Given the description of an element on the screen output the (x, y) to click on. 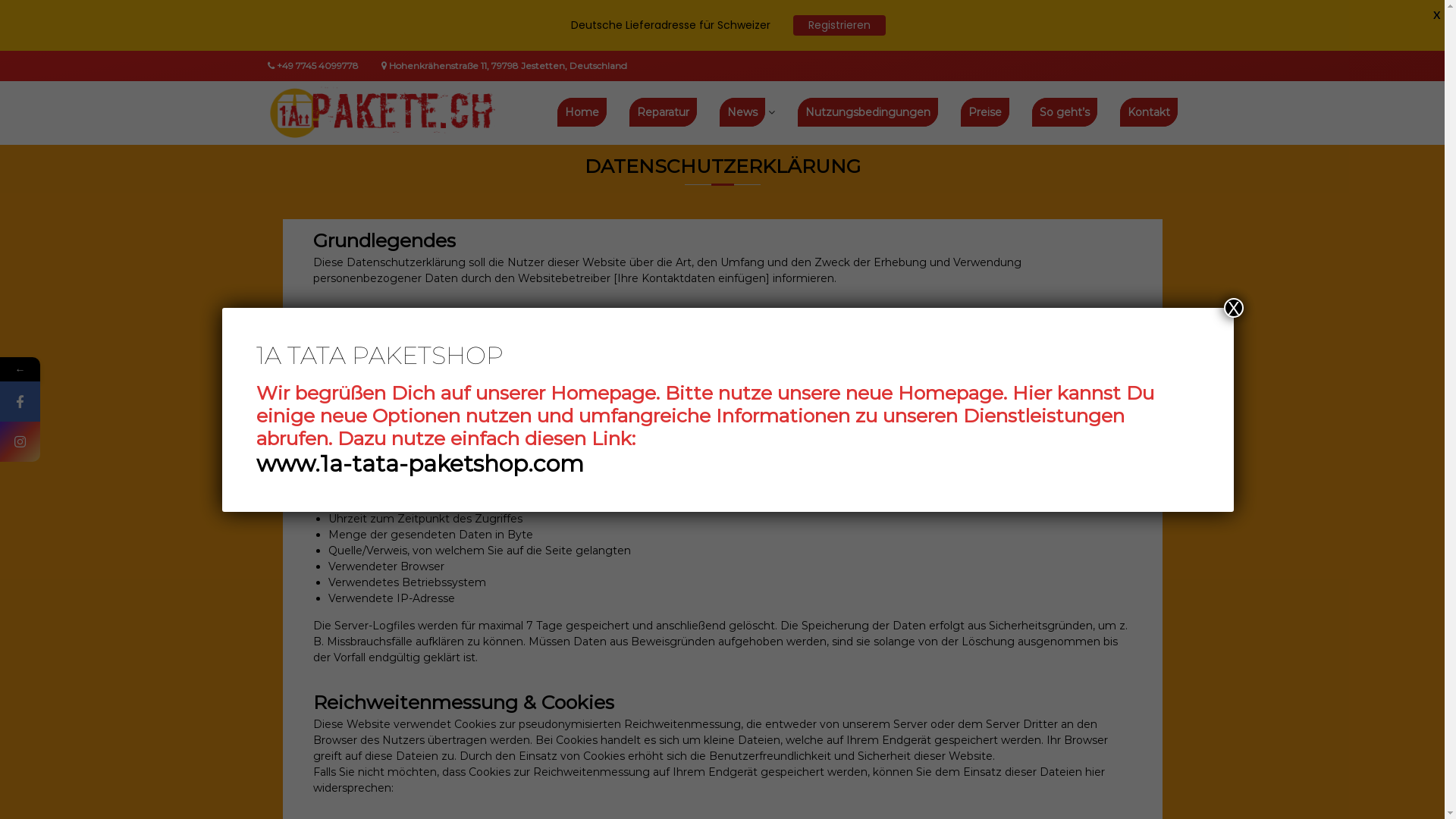
Kontakt Element type: text (1147, 111)
Facebook Element type: text (92, 401)
Registrieren Element type: text (839, 25)
Instagram Element type: text (92, 441)
Reparatur Element type: text (662, 111)
Home Element type: text (580, 111)
X Element type: text (1233, 306)
Preise Element type: text (984, 111)
1A-TataPaketShop Element type: text (509, 226)
+49 7745 4099778 Element type: text (316, 65)
X Element type: text (1436, 14)
Nutzungsbedingungen Element type: text (867, 111)
www.1a-tata-paketshop.com Element type: text (419, 462)
News Element type: text (741, 111)
